Given the description of an element on the screen output the (x, y) to click on. 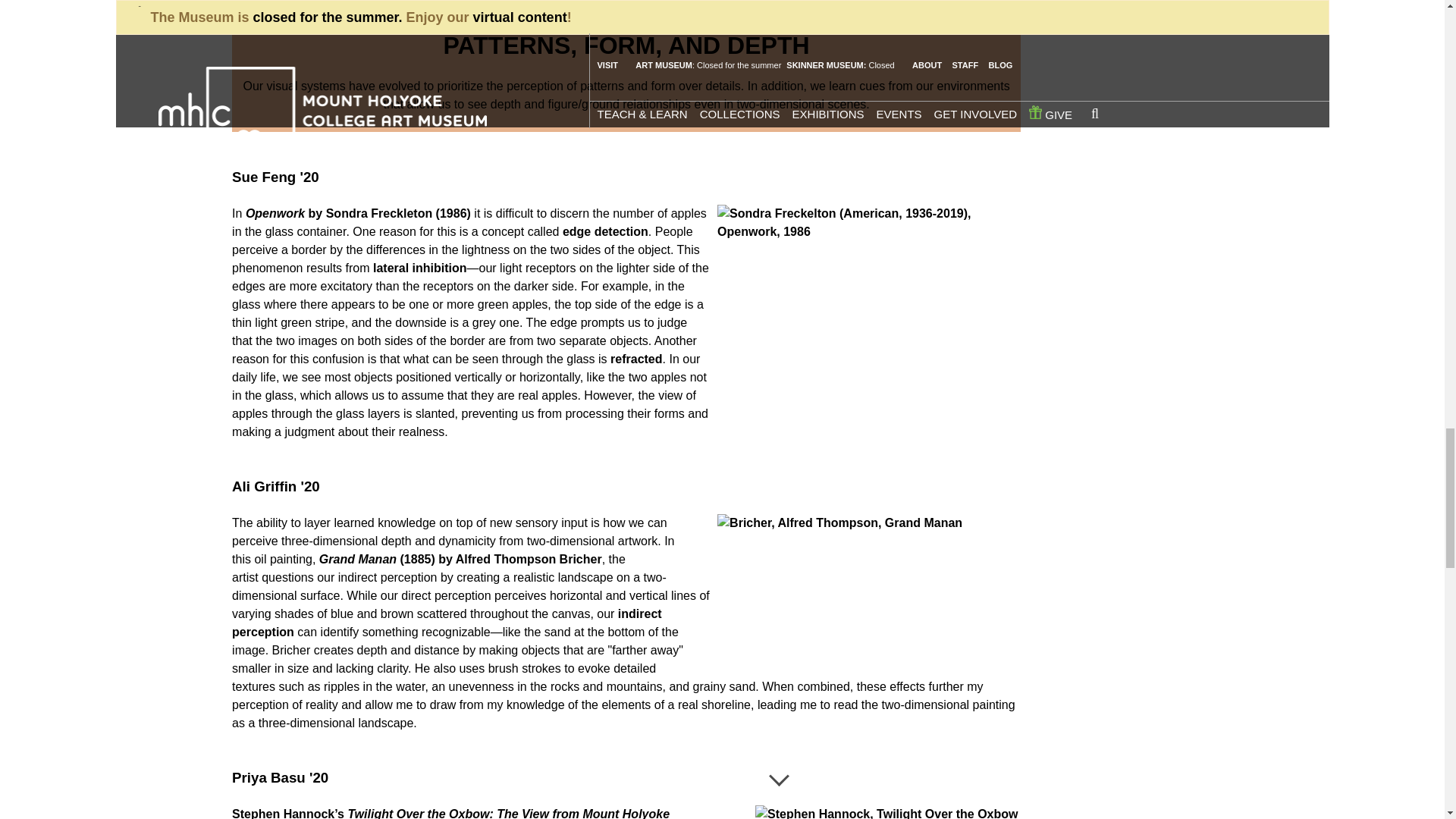
Bricher, Alfred Thompson, Grand Manan (865, 589)
